Given the description of an element on the screen output the (x, y) to click on. 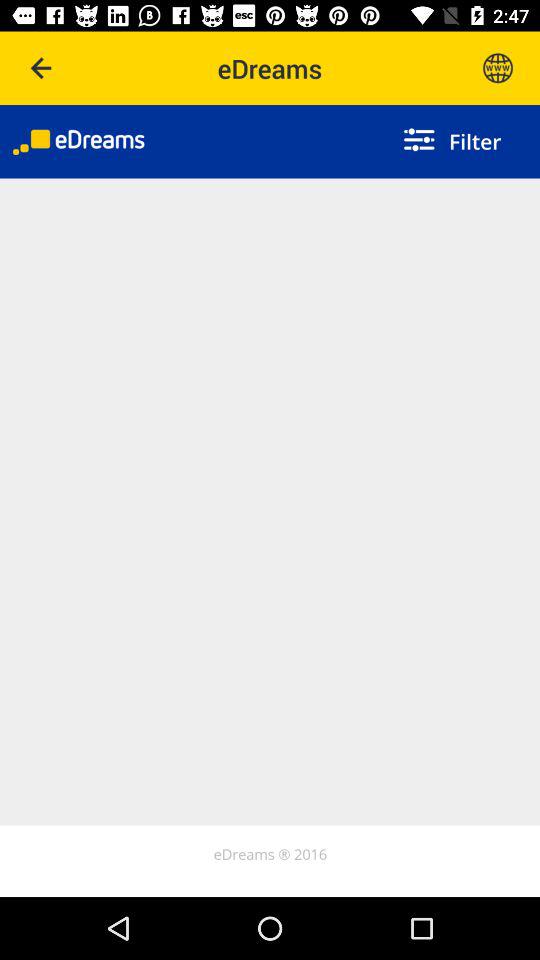
go to edreams website (498, 68)
